Given the description of an element on the screen output the (x, y) to click on. 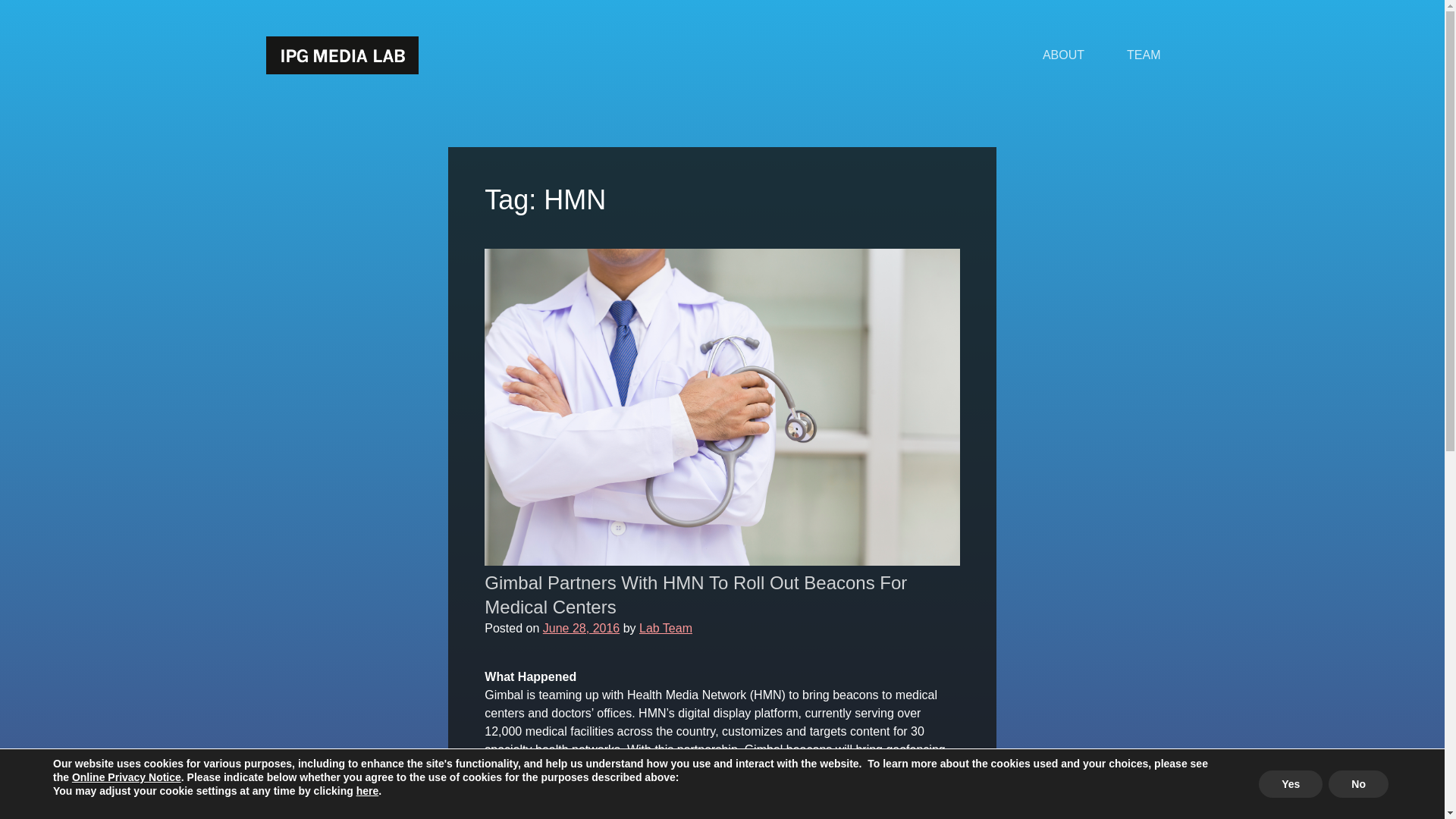
ABOUT (1063, 55)
TEAM (1142, 55)
IPG Media Lab (340, 55)
Yes (1290, 783)
June 28, 2016 (581, 627)
No (1358, 783)
Lab Team (666, 627)
Online Privacy Notice (125, 776)
